Given the description of an element on the screen output the (x, y) to click on. 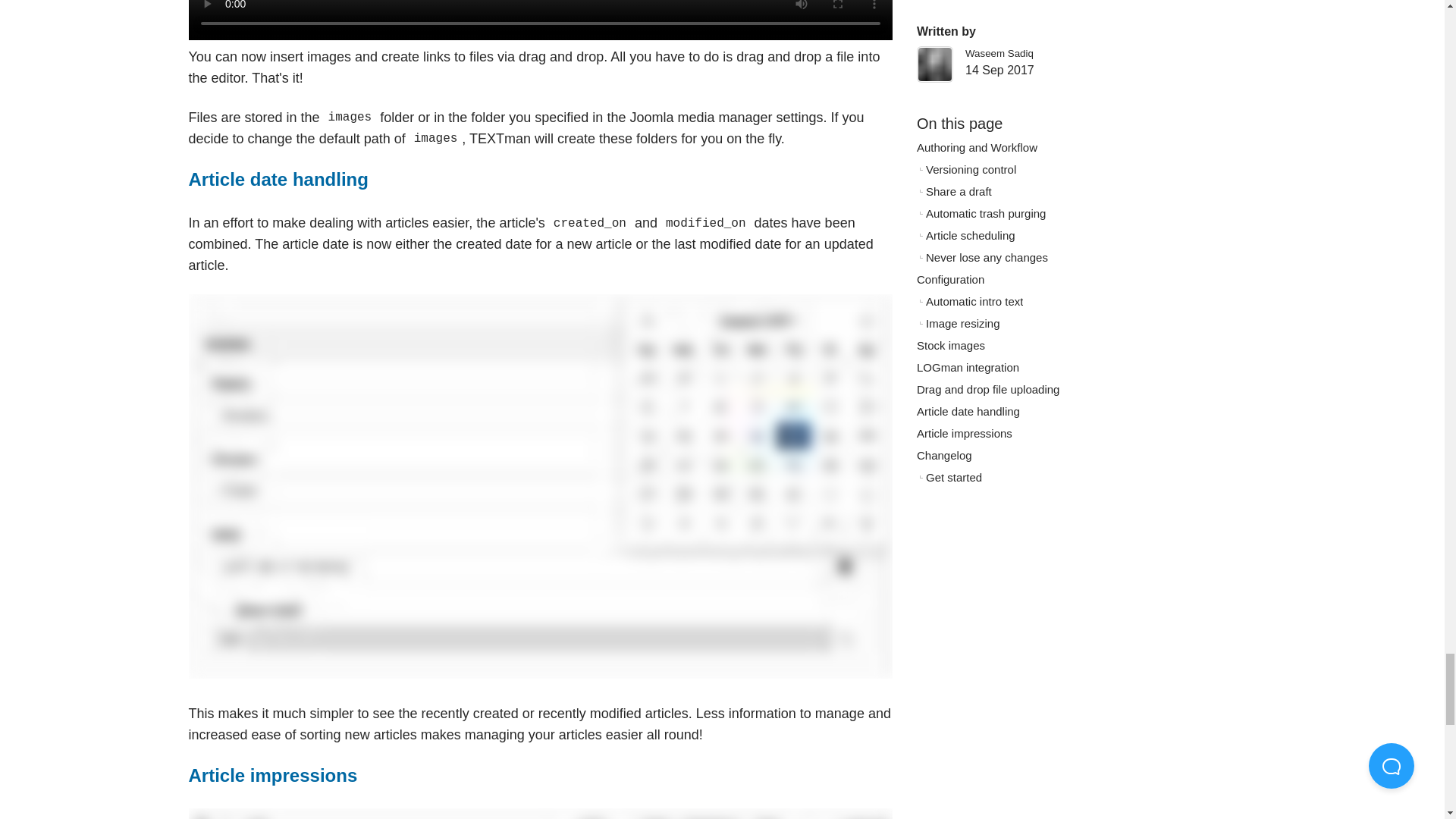
Article date handling (277, 178)
Article impressions (271, 774)
